Given the description of an element on the screen output the (x, y) to click on. 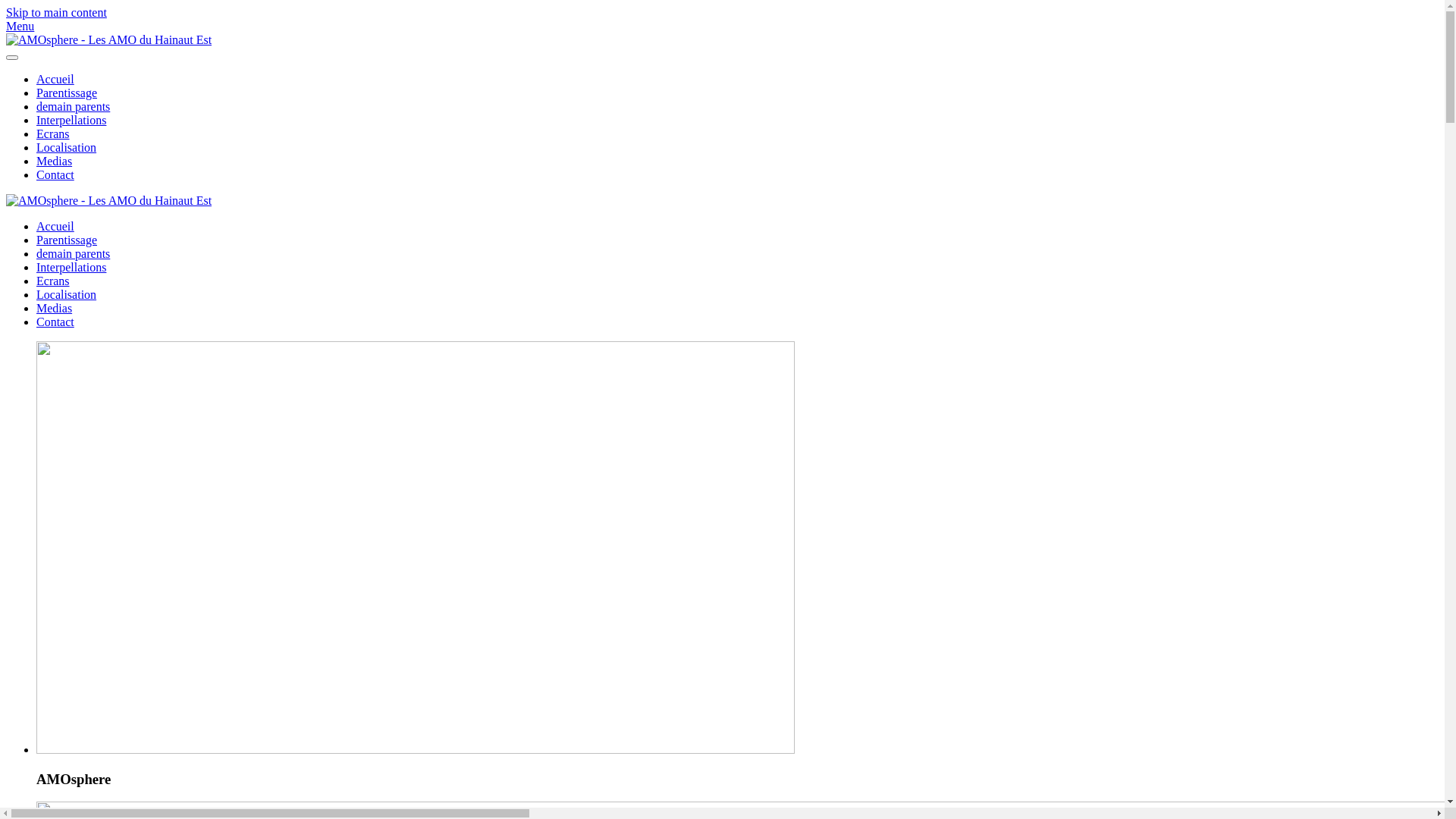
Ecrans Element type: text (52, 280)
Localisation Element type: text (66, 147)
Skip to main content Element type: text (56, 12)
Localisation Element type: text (66, 294)
Parentissage Element type: text (66, 92)
Medias Element type: text (54, 307)
Ecrans Element type: text (52, 133)
Accueil Element type: text (55, 78)
demain parents Element type: text (72, 106)
Contact Element type: text (55, 321)
demain parents Element type: text (72, 253)
Interpellations Element type: text (71, 266)
Accueil Element type: text (55, 225)
Contact Element type: text (55, 174)
Menu Element type: text (722, 25)
Parentissage Element type: text (66, 239)
Interpellations Element type: text (71, 119)
Medias Element type: text (54, 160)
